Given the description of an element on the screen output the (x, y) to click on. 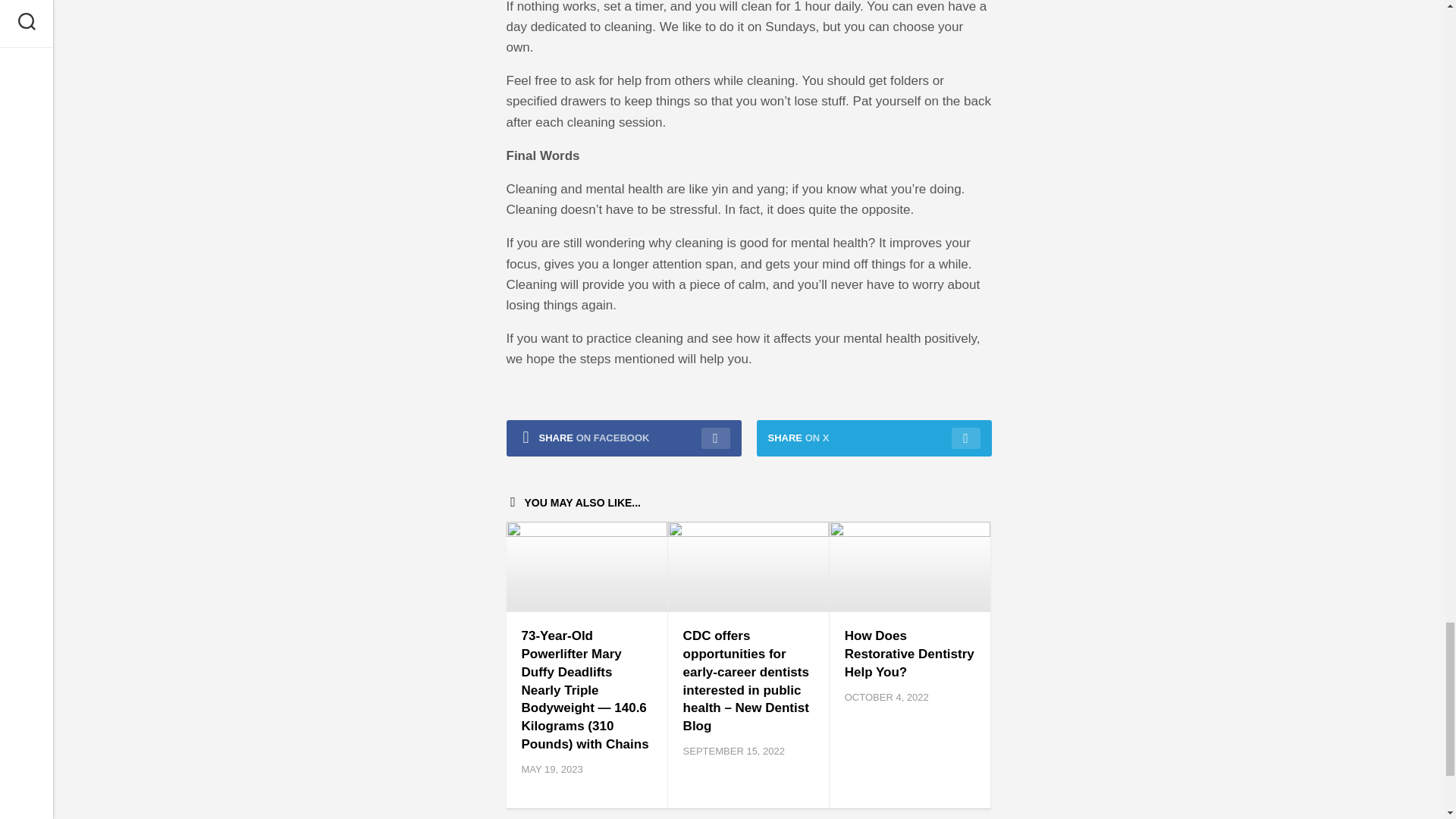
How Does Restorative Dentistry Help You? (909, 653)
SHARE ON FACEBOOK (623, 437)
SHARE ON X (874, 437)
